Given the description of an element on the screen output the (x, y) to click on. 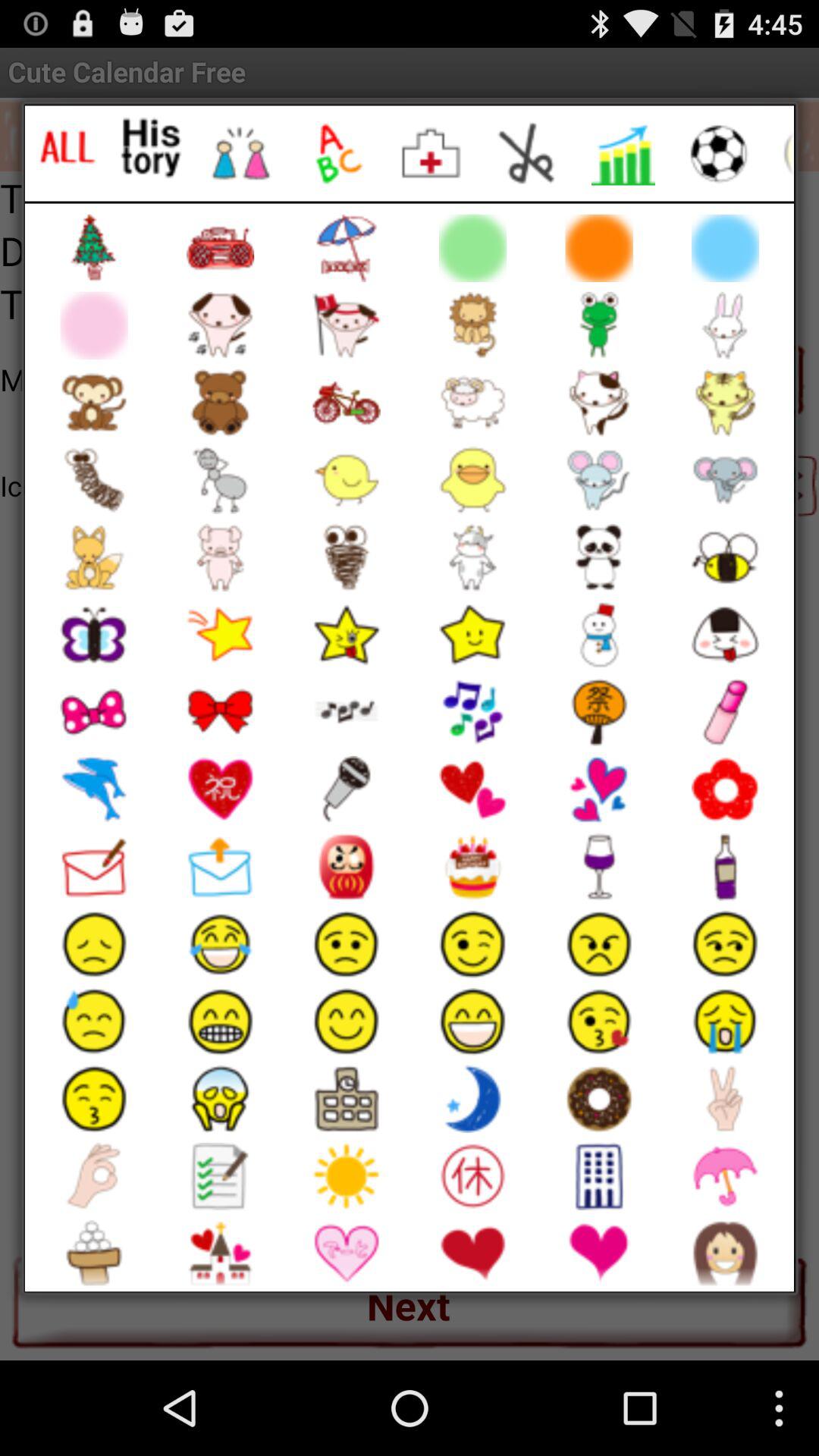
show all images (67, 147)
